Given the description of an element on the screen output the (x, y) to click on. 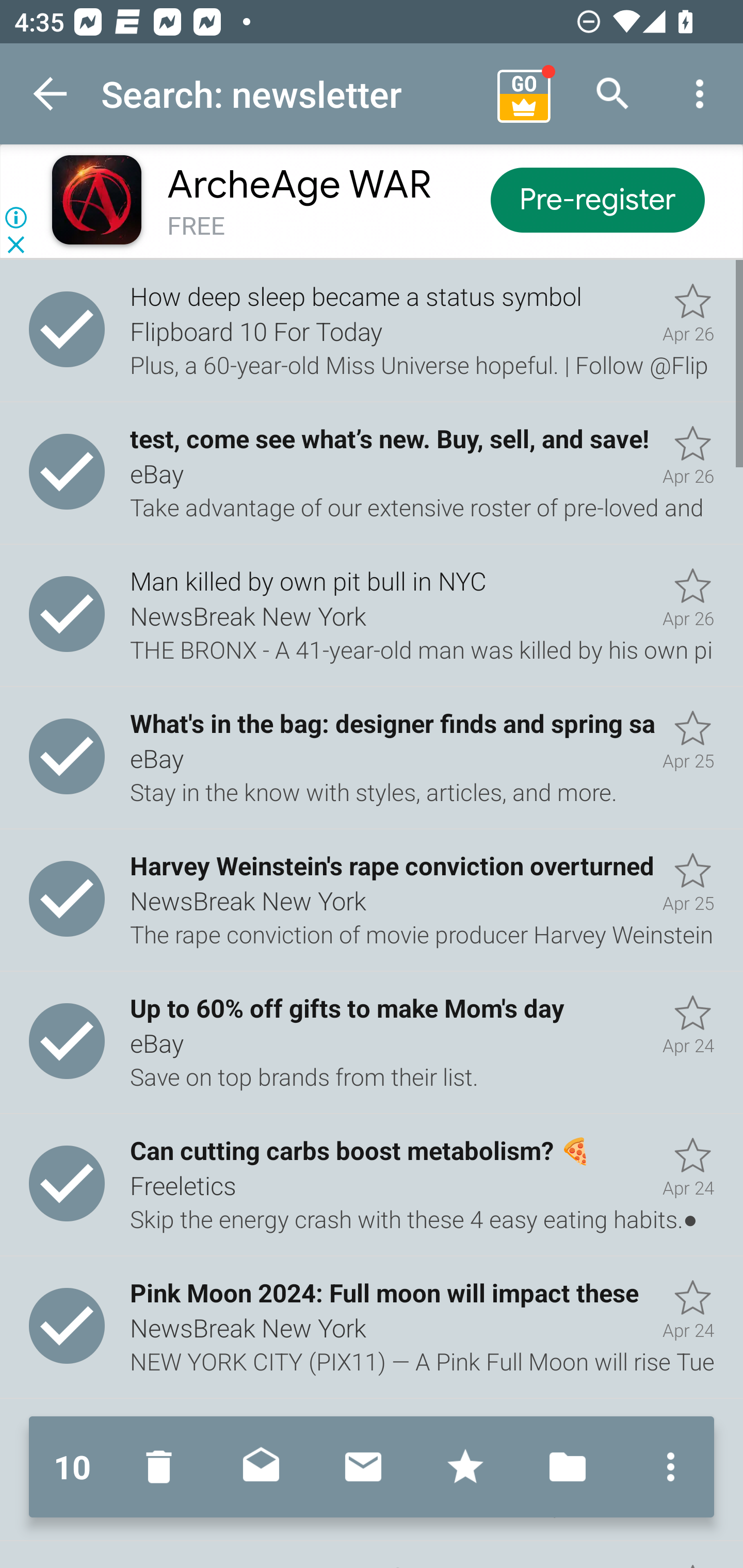
Navigate up (50, 93)
Search (612, 93)
More options (699, 93)
10 10 messages (71, 1466)
Move to Deleted (162, 1466)
Mark read (261, 1466)
Mark unread (363, 1466)
Mark with stars (465, 1466)
Move to folder… (567, 1466)
More options (666, 1466)
